Given the description of an element on the screen output the (x, y) to click on. 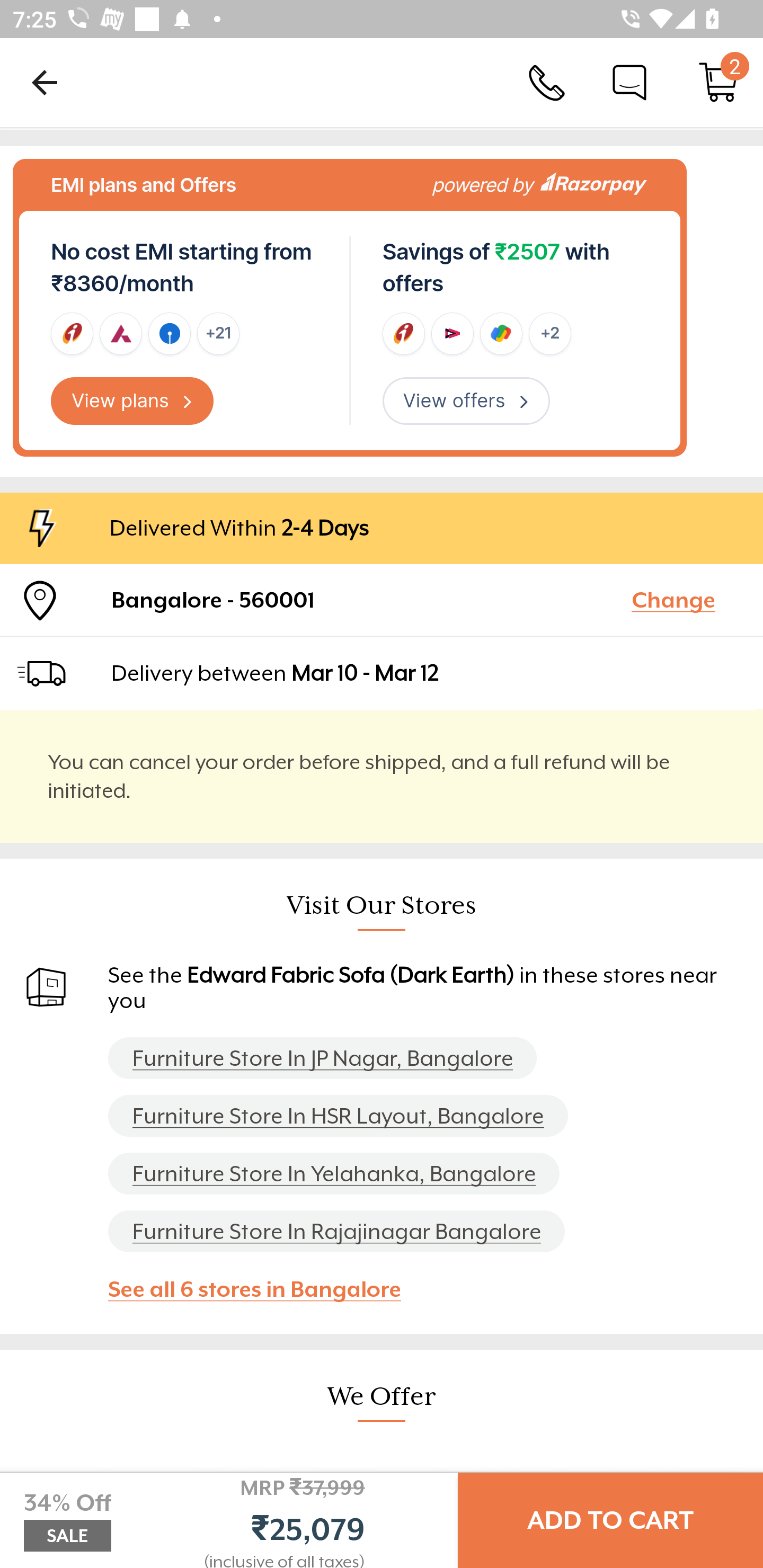
Navigate up (44, 82)
Call Us (546, 81)
Chat (629, 81)
Cart (718, 81)
View plans (132, 401)
View offers (465, 401)
 Bangalore - 560001 Change (381, 599)
Delivery between Mar 10 - Mar 12 (428, 673)
Furniture Store In JP Nagar, Bangalore (322, 1057)
Furniture Store In HSR Layout, Bangalore (337, 1115)
Furniture Store In Yelahanka, Bangalore (333, 1173)
Furniture Store In Rajajinagar Bangalore (336, 1231)
See all 6 stores in Bangalore (262, 1289)
ADD TO CART (610, 1520)
